Given the description of an element on the screen output the (x, y) to click on. 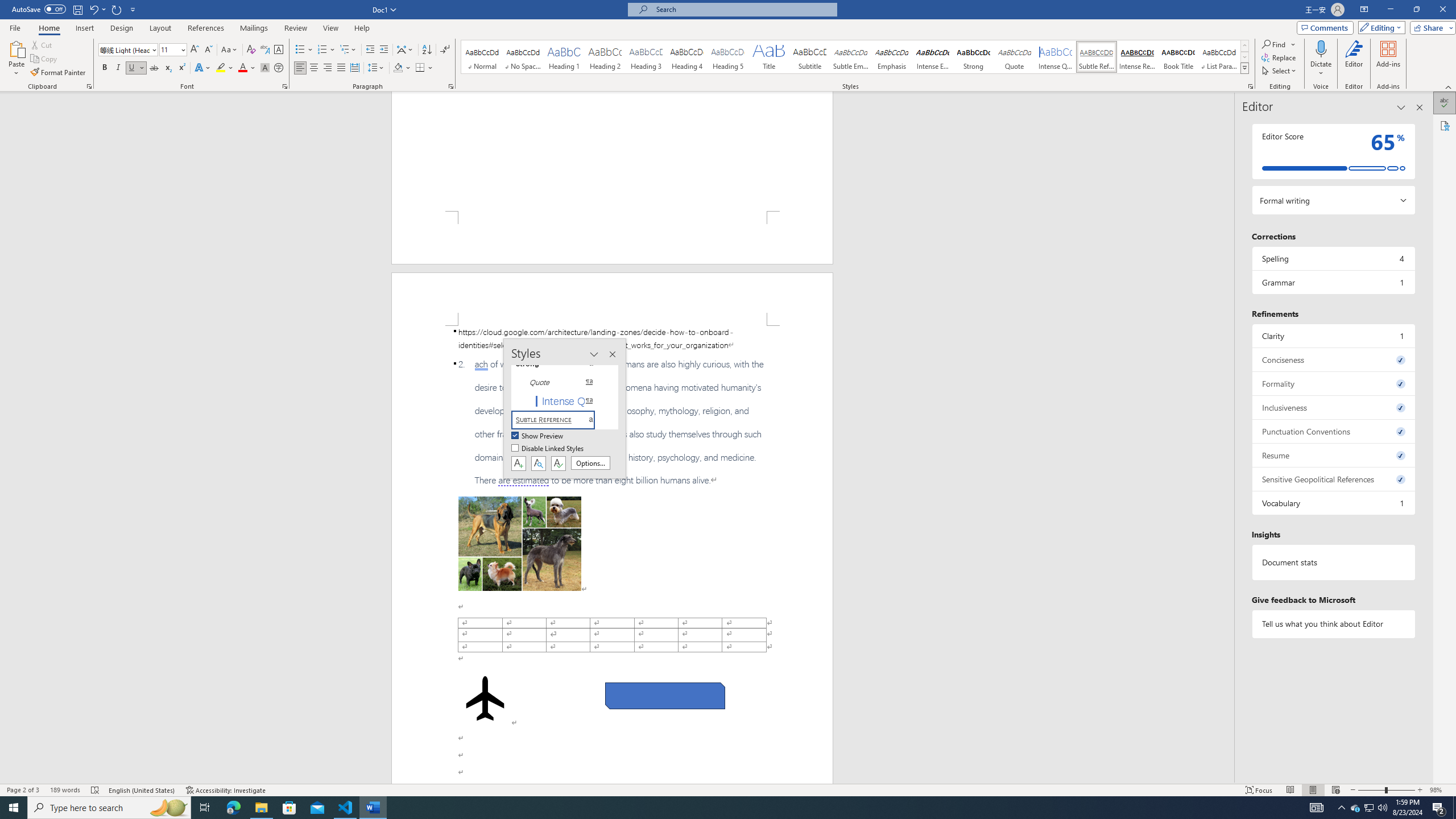
Conciseness, 0 issues. Press space or enter to review items. (1333, 359)
Page 1 content (611, 151)
Page 2 content (611, 554)
Page Number Page 2 of 3 (22, 790)
Repeat Style (117, 9)
